Given the description of an element on the screen output the (x, y) to click on. 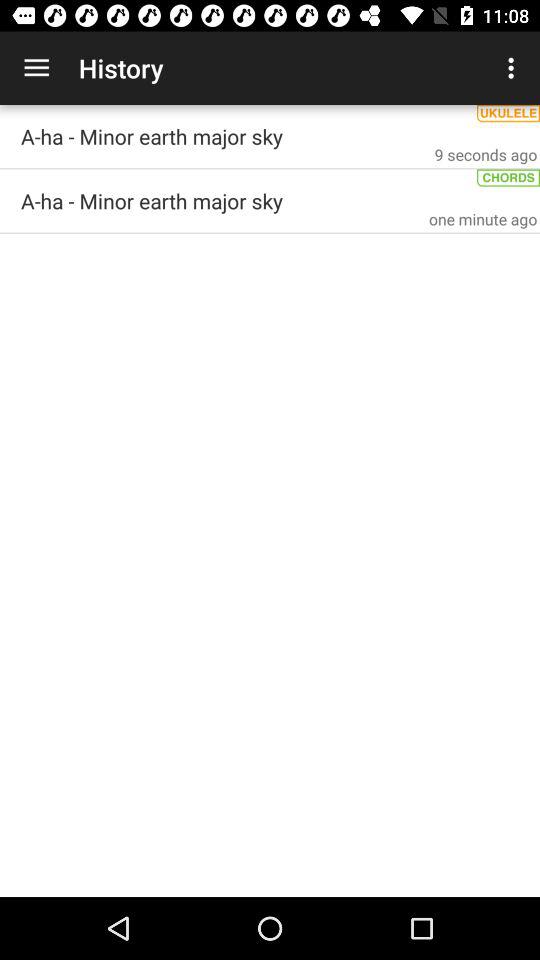
select the icon above a ha minor icon (513, 67)
